Given the description of an element on the screen output the (x, y) to click on. 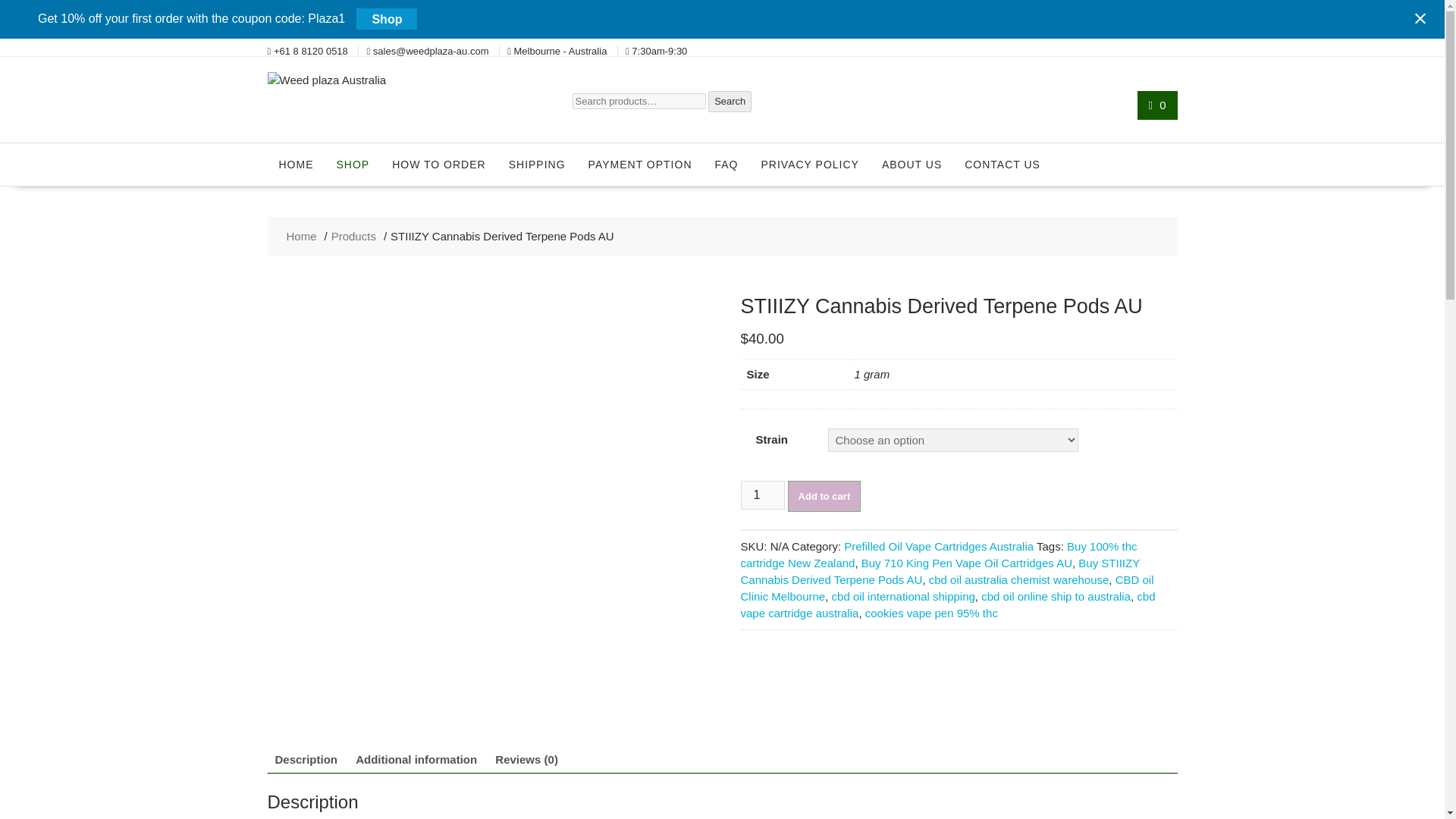
Home (301, 236)
Shop (386, 18)
HOW TO ORDER (438, 164)
SHOP (352, 164)
Products (353, 236)
FAQ (726, 164)
HOME (295, 164)
Search (729, 101)
PRIVACY POLICY (809, 164)
ABOUT US (911, 164)
SHIPPING (536, 164)
CONTACT US (1002, 164)
0 (1157, 104)
